Given the description of an element on the screen output the (x, y) to click on. 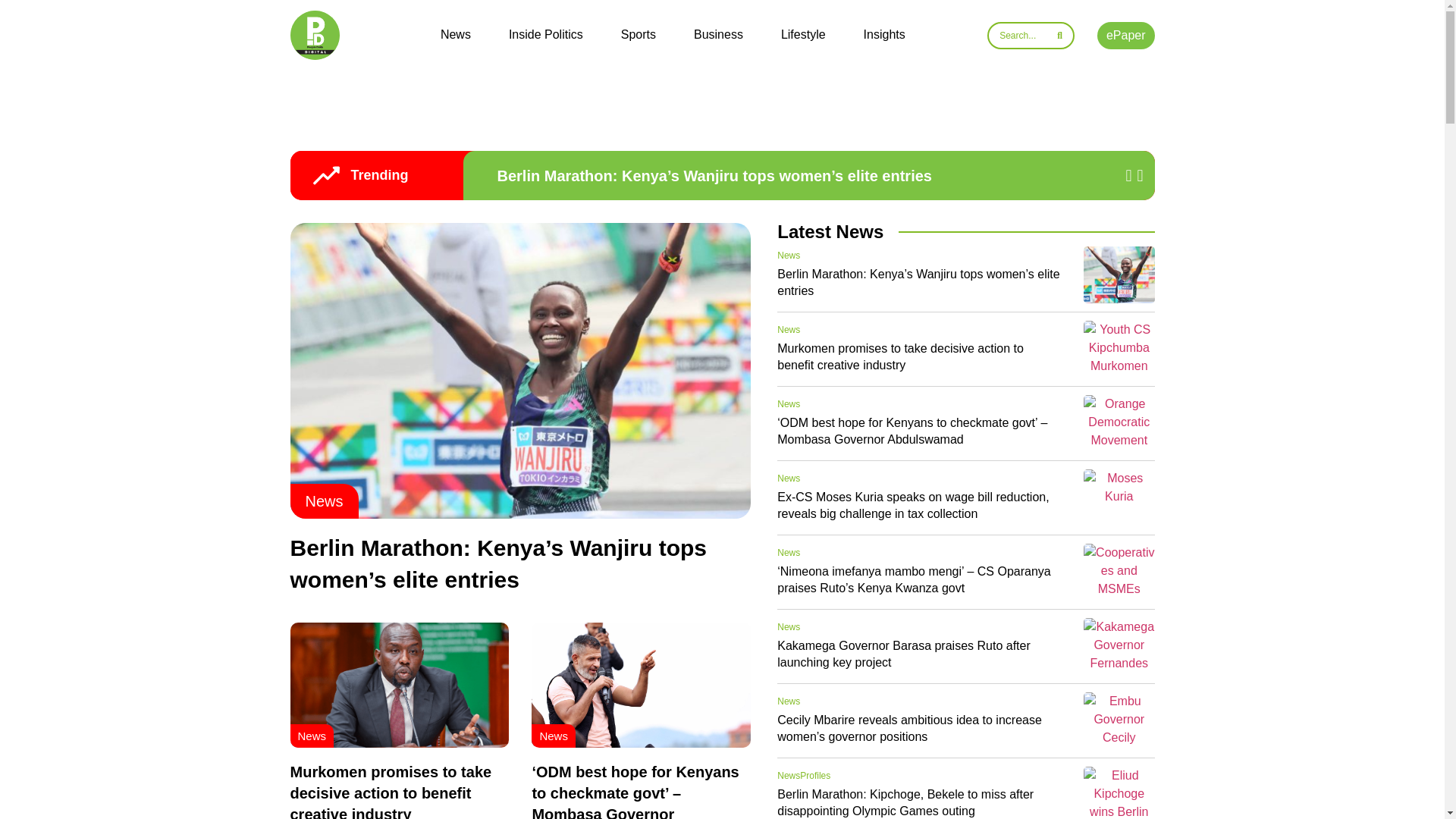
News (323, 501)
Sports (638, 34)
Insights (884, 34)
News (788, 329)
ePaper (1125, 34)
News (311, 735)
News (455, 34)
Lifestyle (802, 34)
Search... (1030, 34)
